Given the description of an element on the screen output the (x, y) to click on. 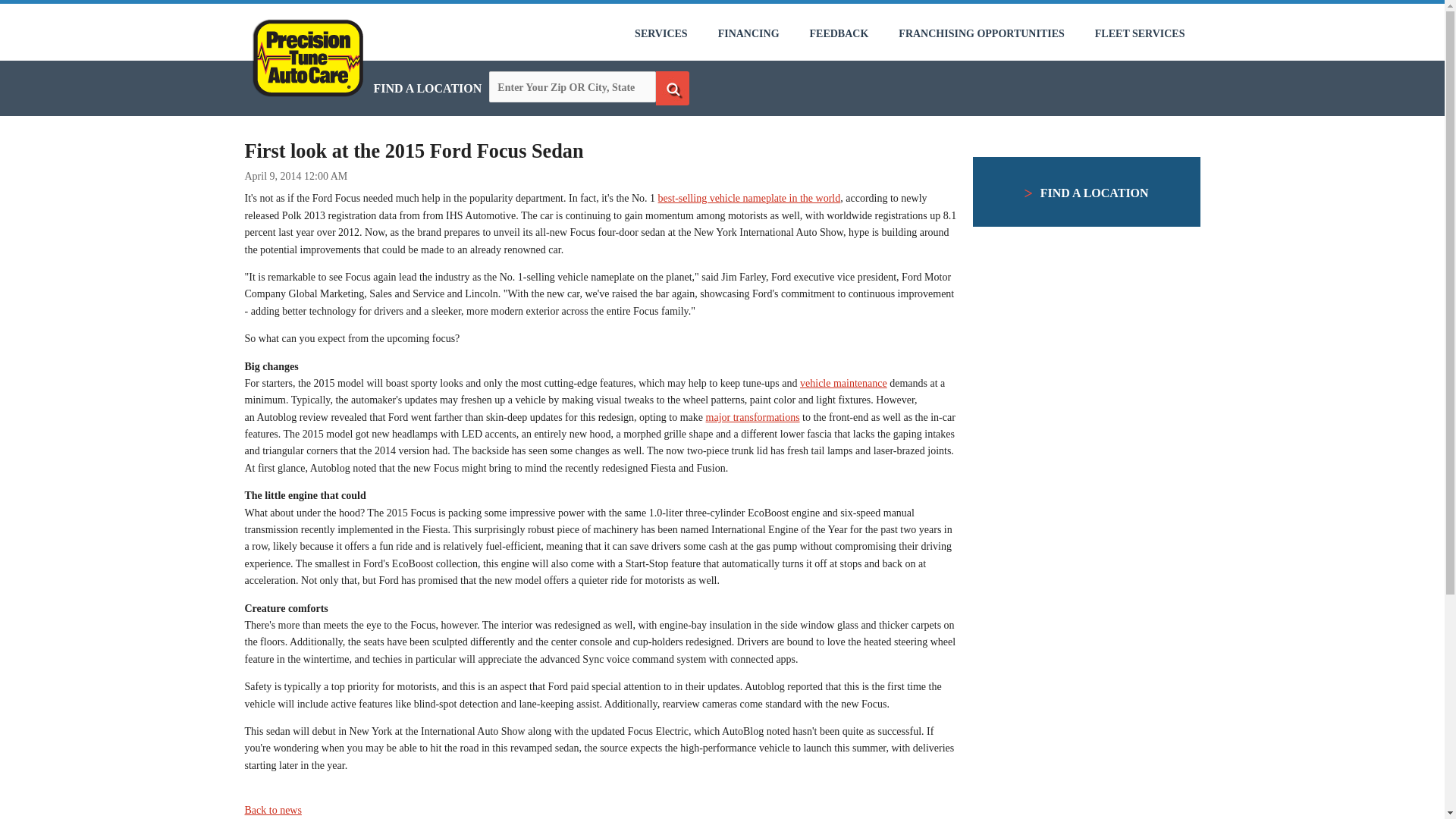
Locate (672, 88)
SERVICES (661, 33)
